Given the description of an element on the screen output the (x, y) to click on. 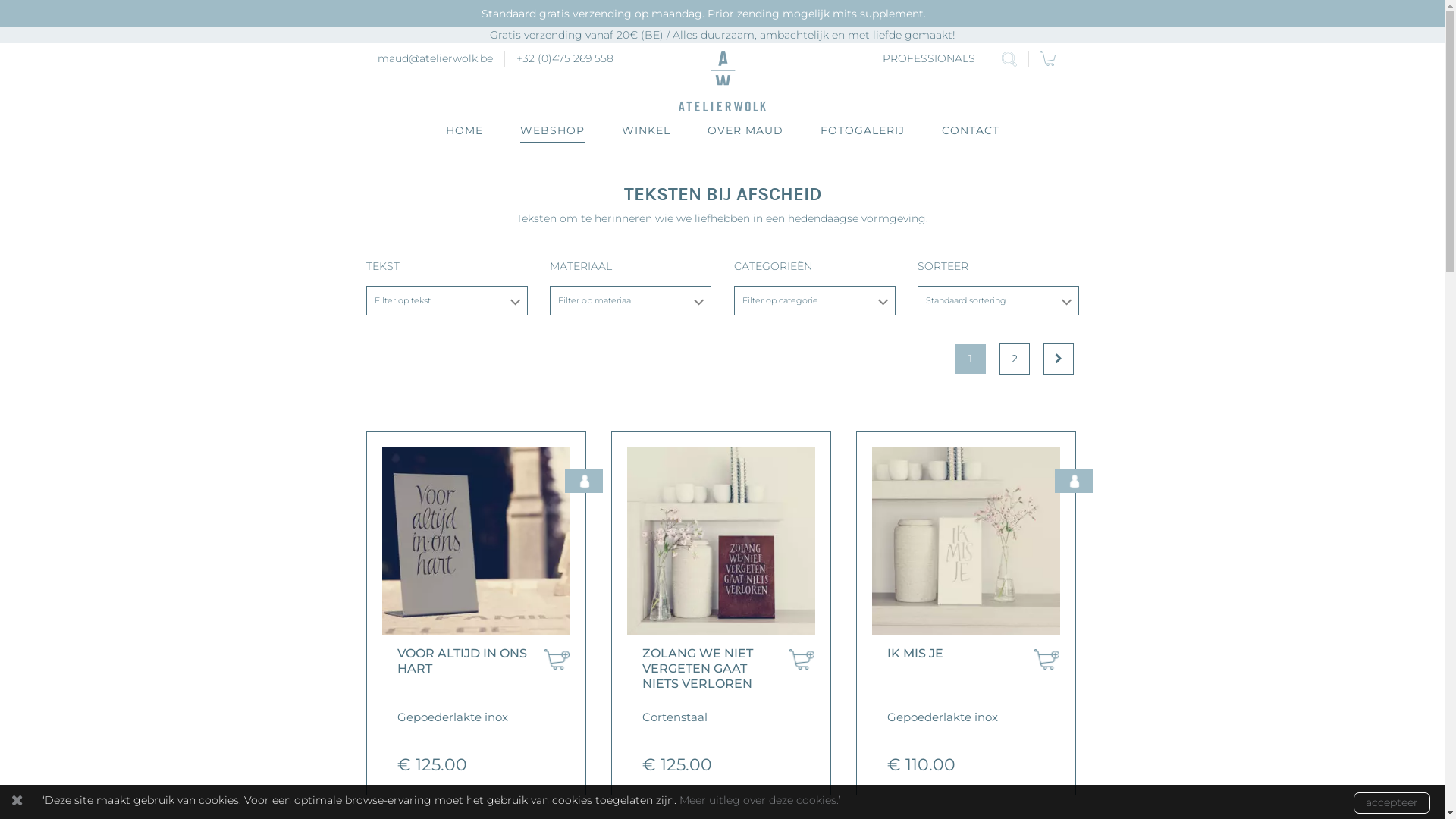
OVER MAUD Element type: text (744, 130)
Bekijk je winkelwagen Element type: hover (1053, 57)
Standaard sortering Element type: text (965, 299)
HOME Element type: text (464, 130)
WINKEL Element type: text (645, 130)
2 Element type: text (1014, 358)
accepteer Element type: text (1391, 802)
  Element type: text (1053, 57)
Filter op materiaal Element type: text (595, 299)
Filter op categorie Element type: text (779, 299)
Filter op tekst Element type: text (402, 299)
maud@atelierwolk.be Element type: text (434, 58)
CONTACT Element type: text (970, 130)
PROFESSIONALS Element type: text (928, 58)
WEBSHOP Element type: text (552, 130)
FOTOGALERIJ Element type: text (862, 130)
